Given the description of an element on the screen output the (x, y) to click on. 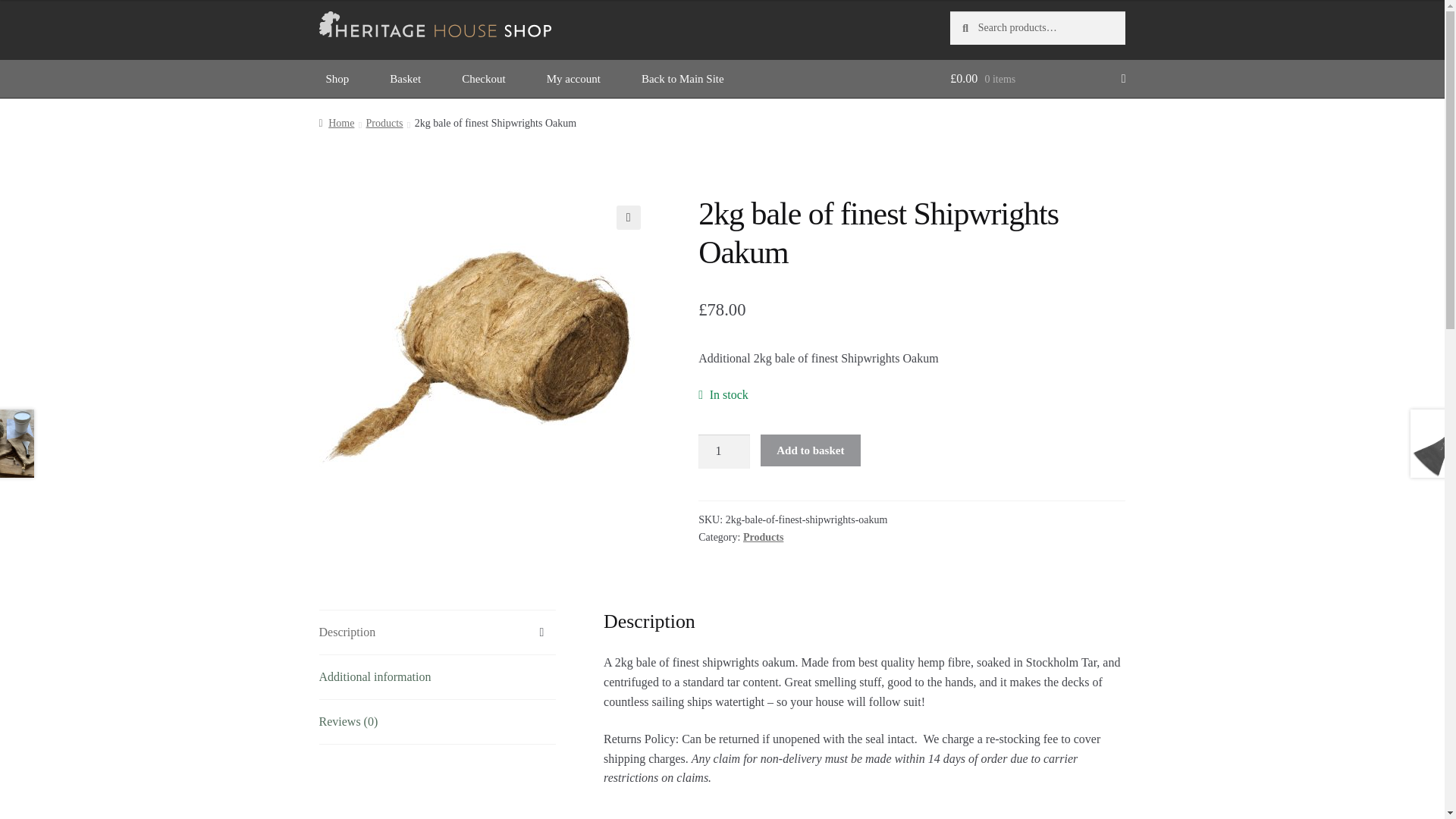
View your shopping basket (1037, 78)
Shop (337, 78)
Back to Main Site (682, 78)
Products (384, 122)
Basket (405, 78)
1 (723, 451)
Products (762, 536)
Description (437, 632)
Add to basket (810, 450)
Additional information (437, 677)
Checkout (483, 78)
oakum2 (476, 352)
My account (573, 78)
